Given the description of an element on the screen output the (x, y) to click on. 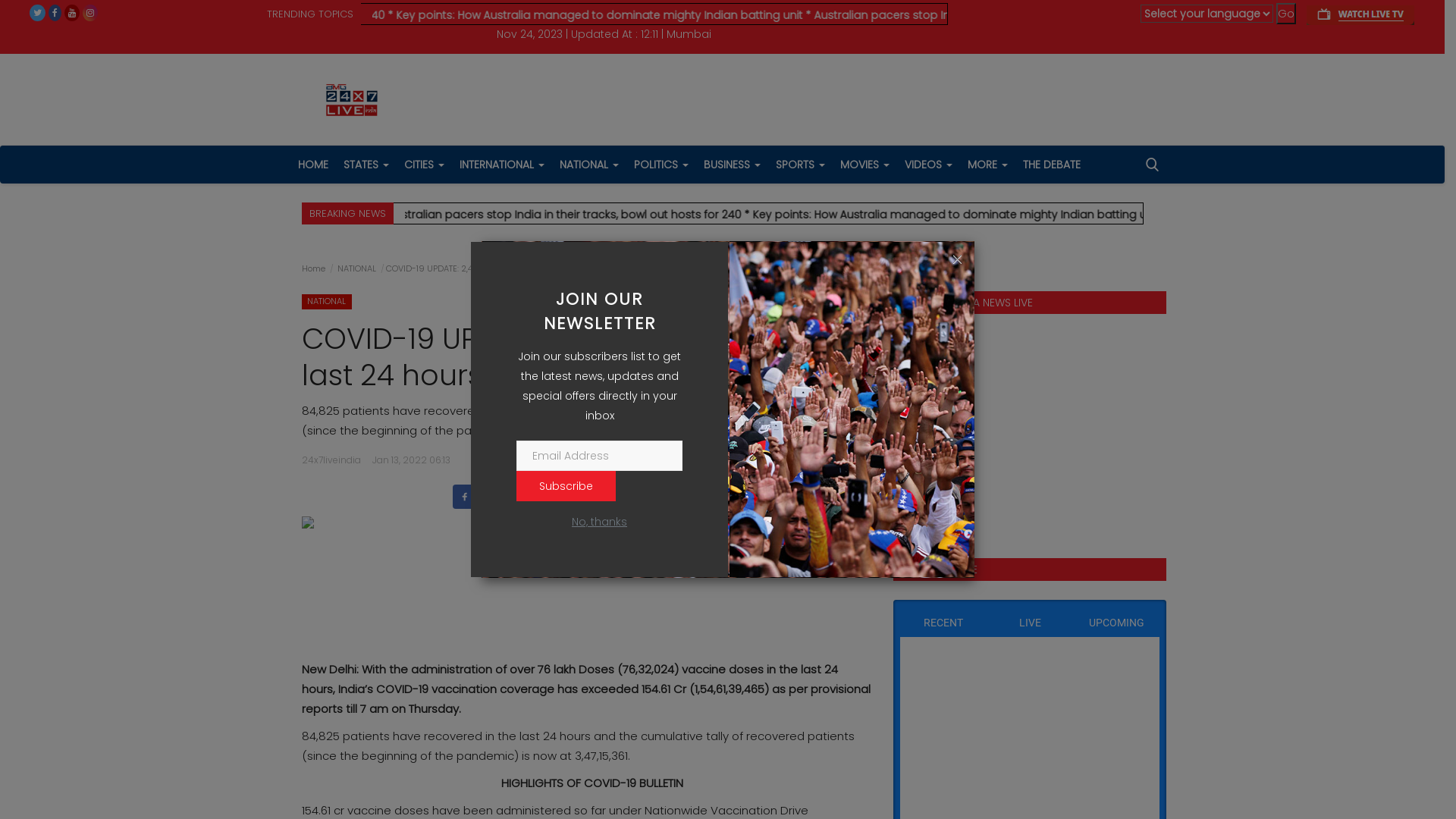
STATES Element type: text (365, 164)
CITIES Element type: text (423, 164)
HOME Element type: text (312, 164)
INTERNATIONAL Element type: text (501, 164)
NATIONAL Element type: text (326, 299)
MORE Element type: text (987, 164)
Go Element type: text (1285, 13)
Advertisement Element type: hover (585, 580)
No, thanks Element type: text (599, 521)
THE DEBATE Element type: text (1050, 164)
NATIONAL Element type: text (589, 164)
POLITICS Element type: text (661, 164)
NATIONAL Element type: text (355, 268)
SPORTS Element type: text (799, 164)
MOVIES Element type: text (864, 164)
VIDEOS Element type: text (927, 164)
Subscribe Element type: text (565, 485)
* I wasn't invited for World Cup final: Kapil Dev Element type: text (564, 14)
Home Element type: text (313, 268)
BUSINESS Element type: text (732, 164)
YouTube video player Element type: hover (1025, 427)
